Given the description of an element on the screen output the (x, y) to click on. 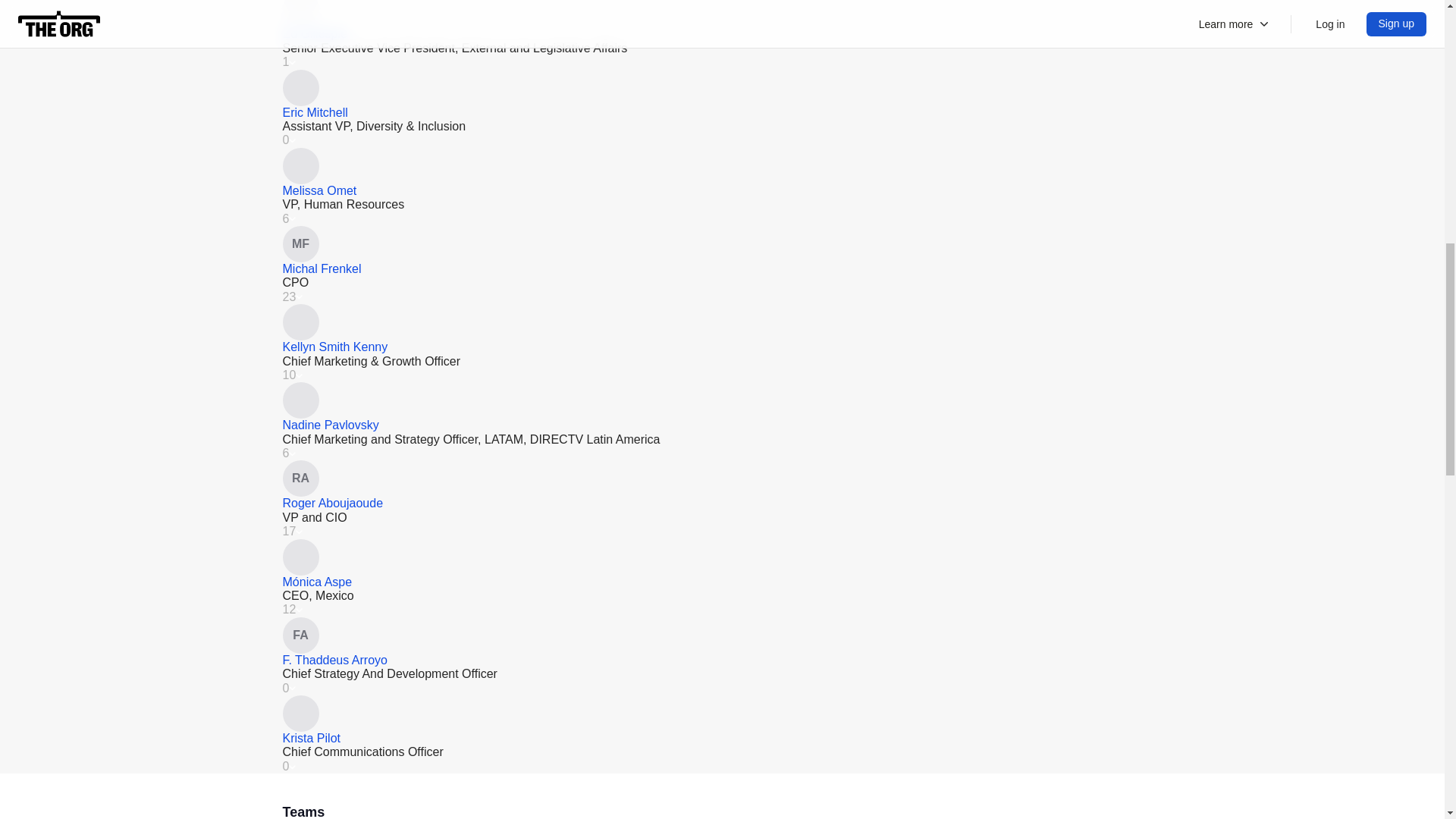
1 (288, 61)
Eric Mitchell (314, 112)
Ed Gillespie (314, 33)
Melissa Omet (319, 190)
0 (288, 140)
